Given the description of an element on the screen output the (x, y) to click on. 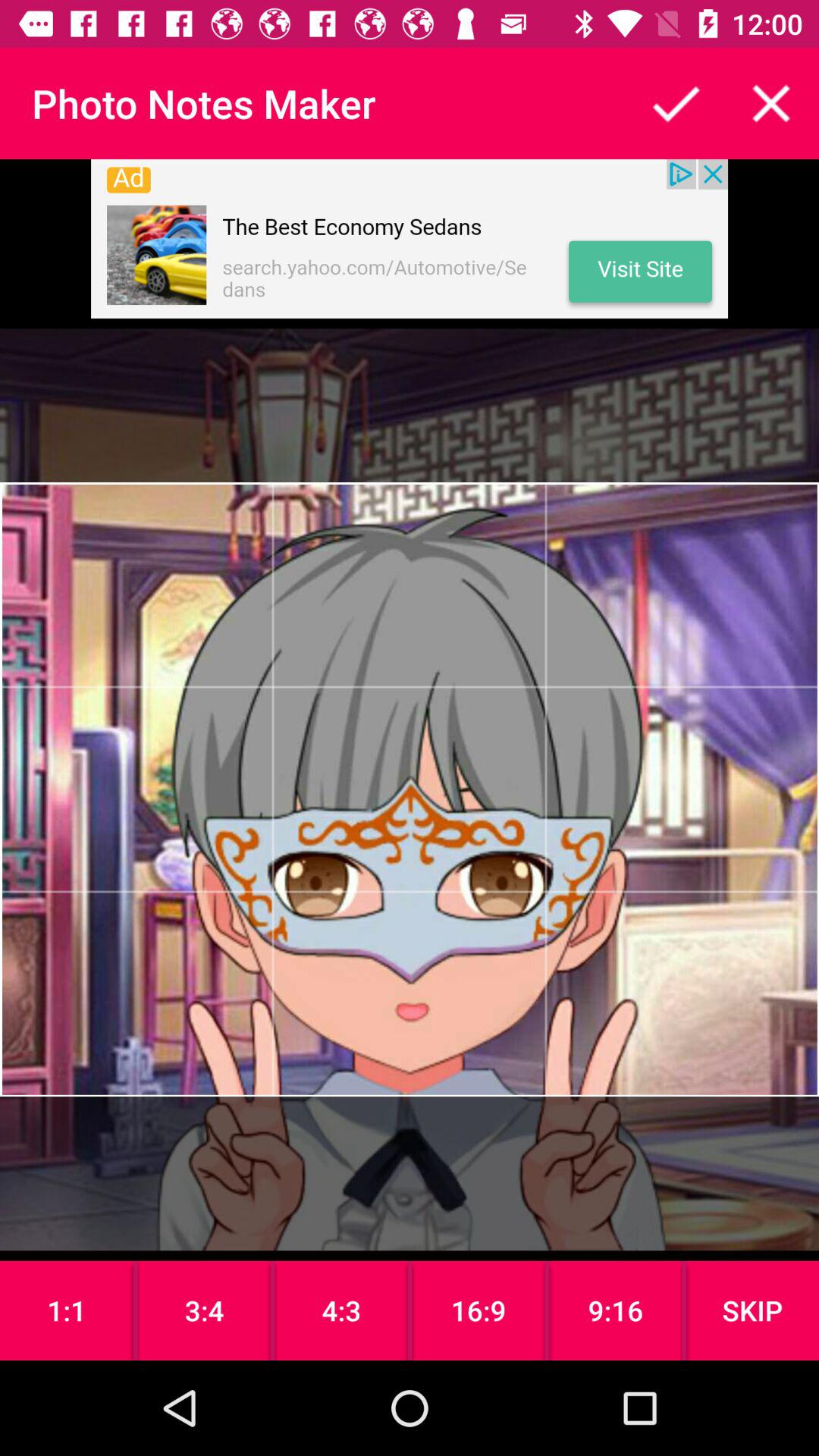
open advertisement (409, 238)
